Given the description of an element on the screen output the (x, y) to click on. 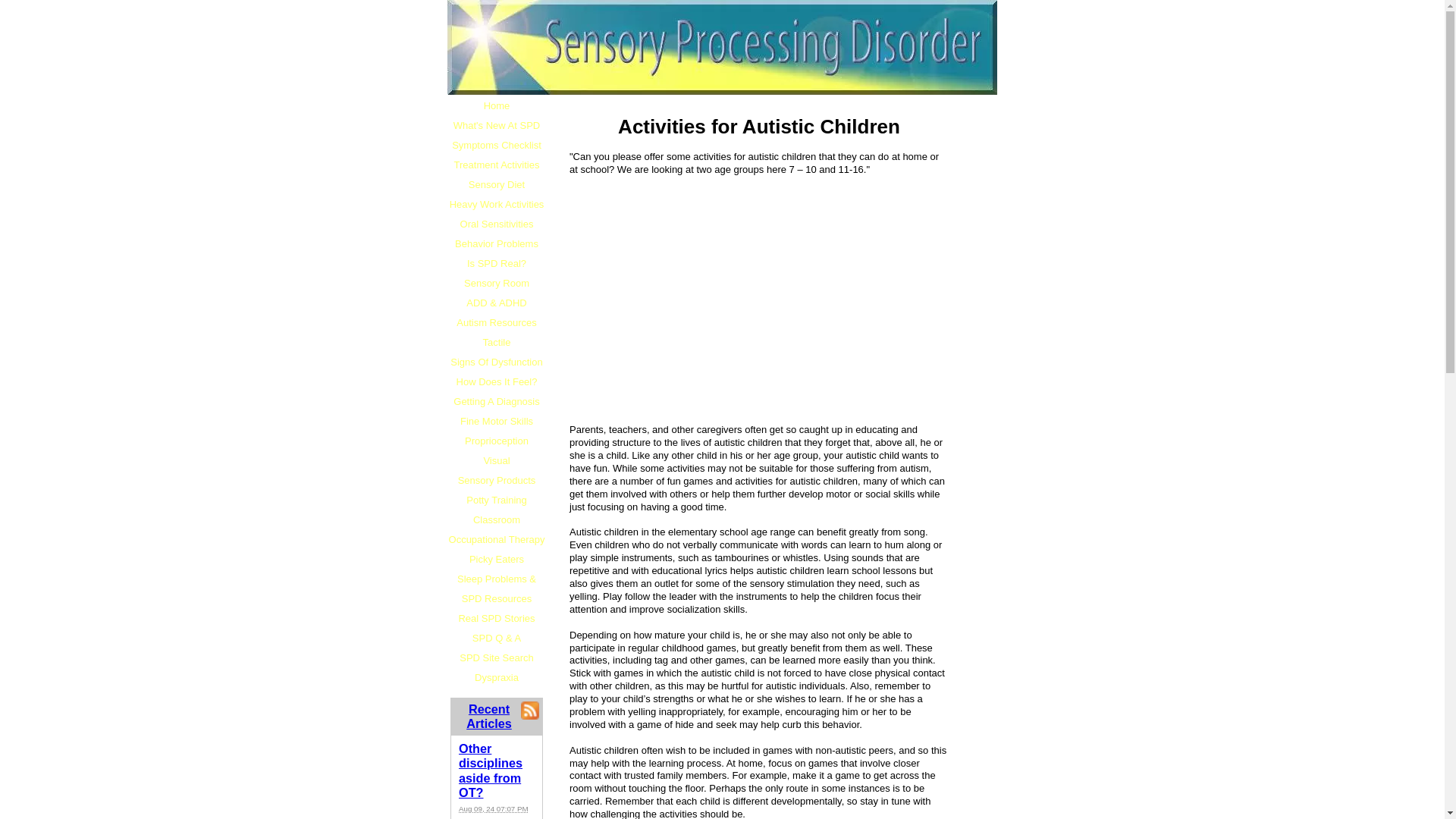
Sensory Products (496, 480)
Sensory Room (496, 283)
Visual (496, 460)
Treatment Activities (496, 165)
How Does It Feel? (496, 382)
Tactile Overresponsivity (496, 342)
2024-08-09T19:07:46-0400 (493, 808)
Symptoms Checklist (496, 145)
Real SPD Stories (496, 618)
Occupational Therapy (496, 539)
